Given the description of an element on the screen output the (x, y) to click on. 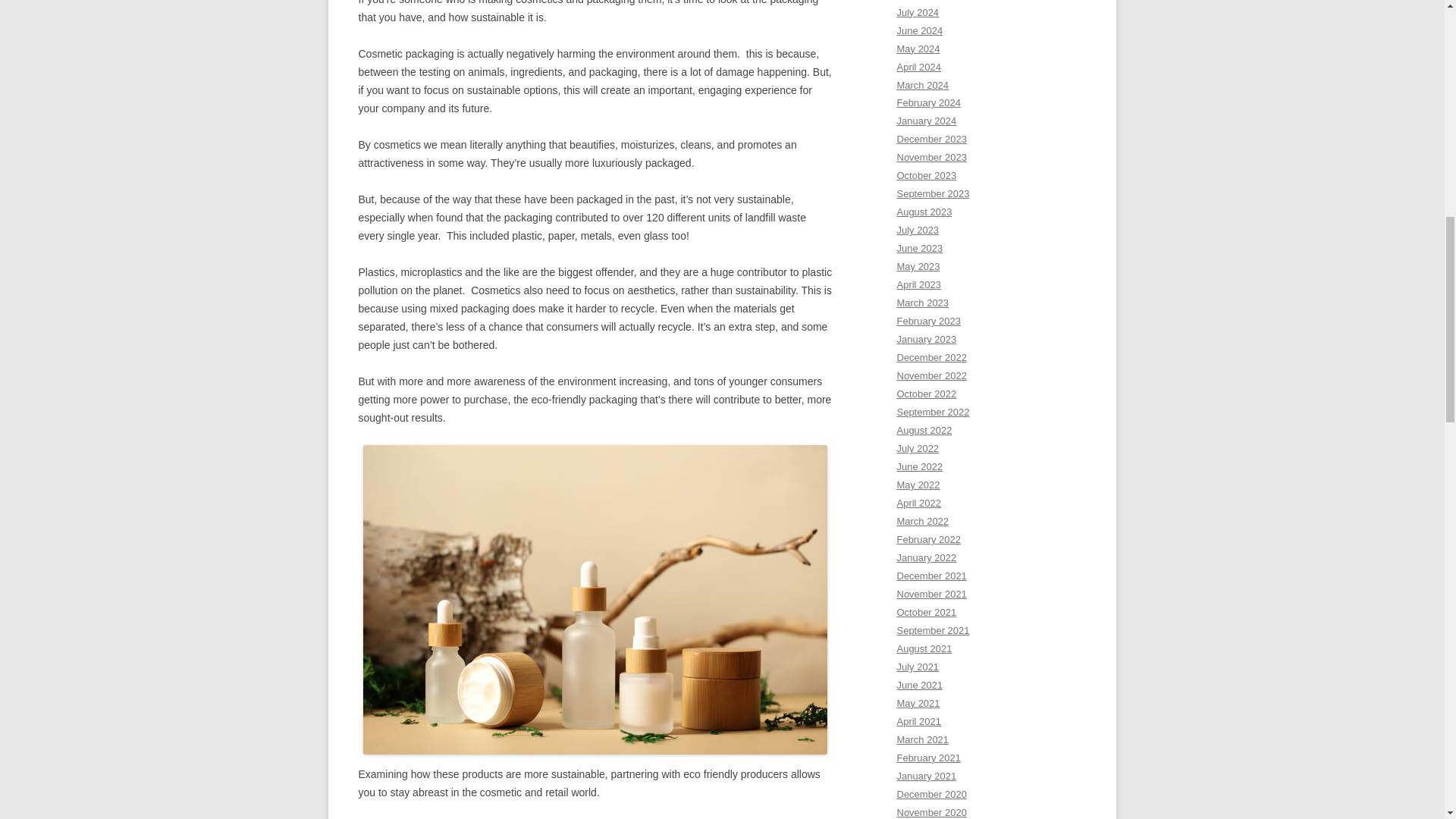
May 2024 (917, 48)
February 2024 (927, 102)
March 2024 (922, 84)
June 2024 (919, 30)
January 2024 (926, 120)
July 2024 (917, 12)
April 2024 (918, 66)
